Given the description of an element on the screen output the (x, y) to click on. 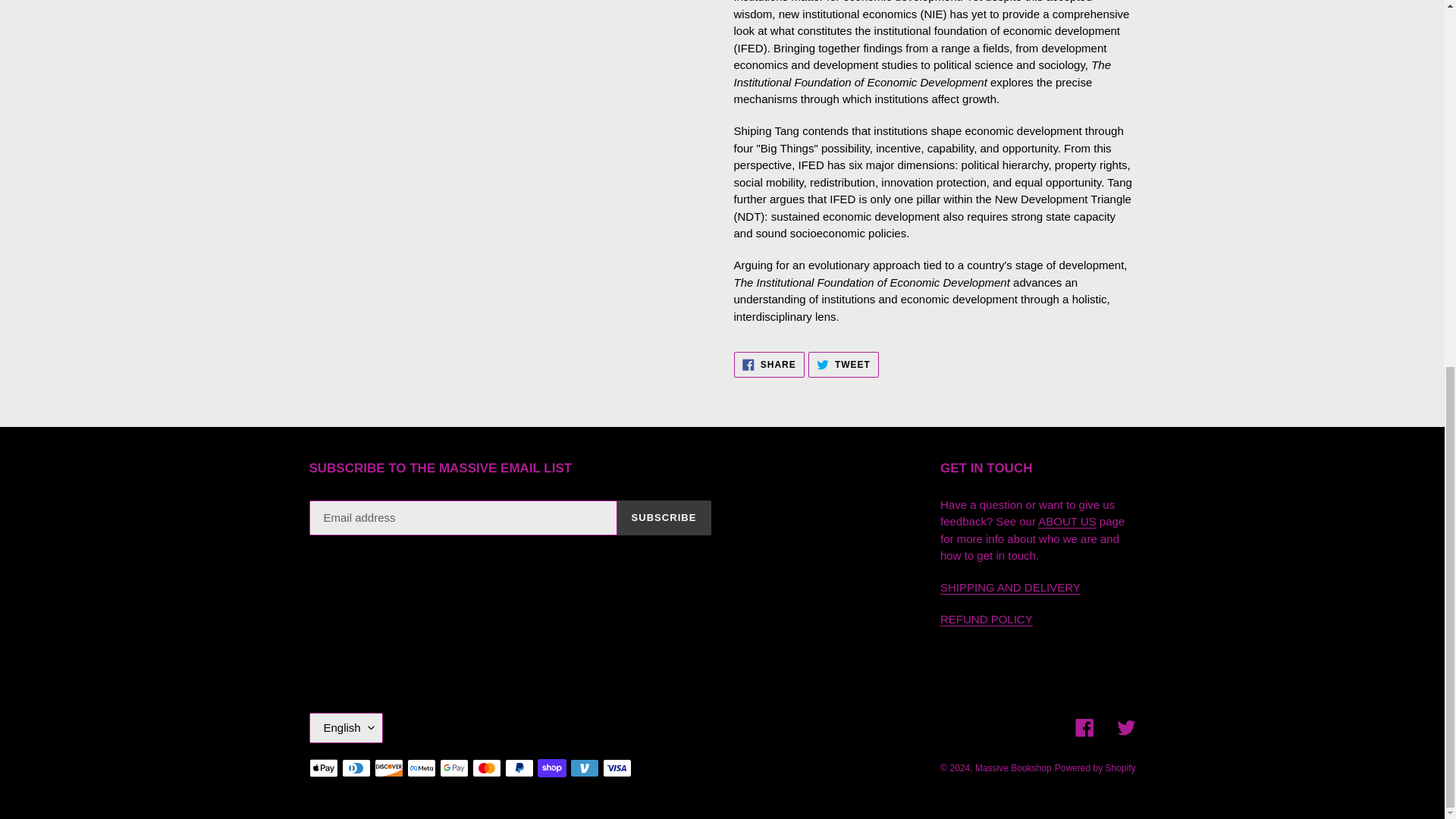
ABOUT US (843, 364)
Twitter (1067, 521)
Shipping Policy (1125, 727)
WELCOME TO OUR MASSIVE BOOKSHOP (769, 364)
Refund Policy (1010, 587)
Powered by Shopify (1067, 521)
English (986, 619)
SUBSCRIBE (1094, 767)
REFUND POLICY (345, 727)
Massive Bookshop (664, 517)
Facebook (986, 619)
SHIPPING AND DELIVERY (1013, 767)
